Given the description of an element on the screen output the (x, y) to click on. 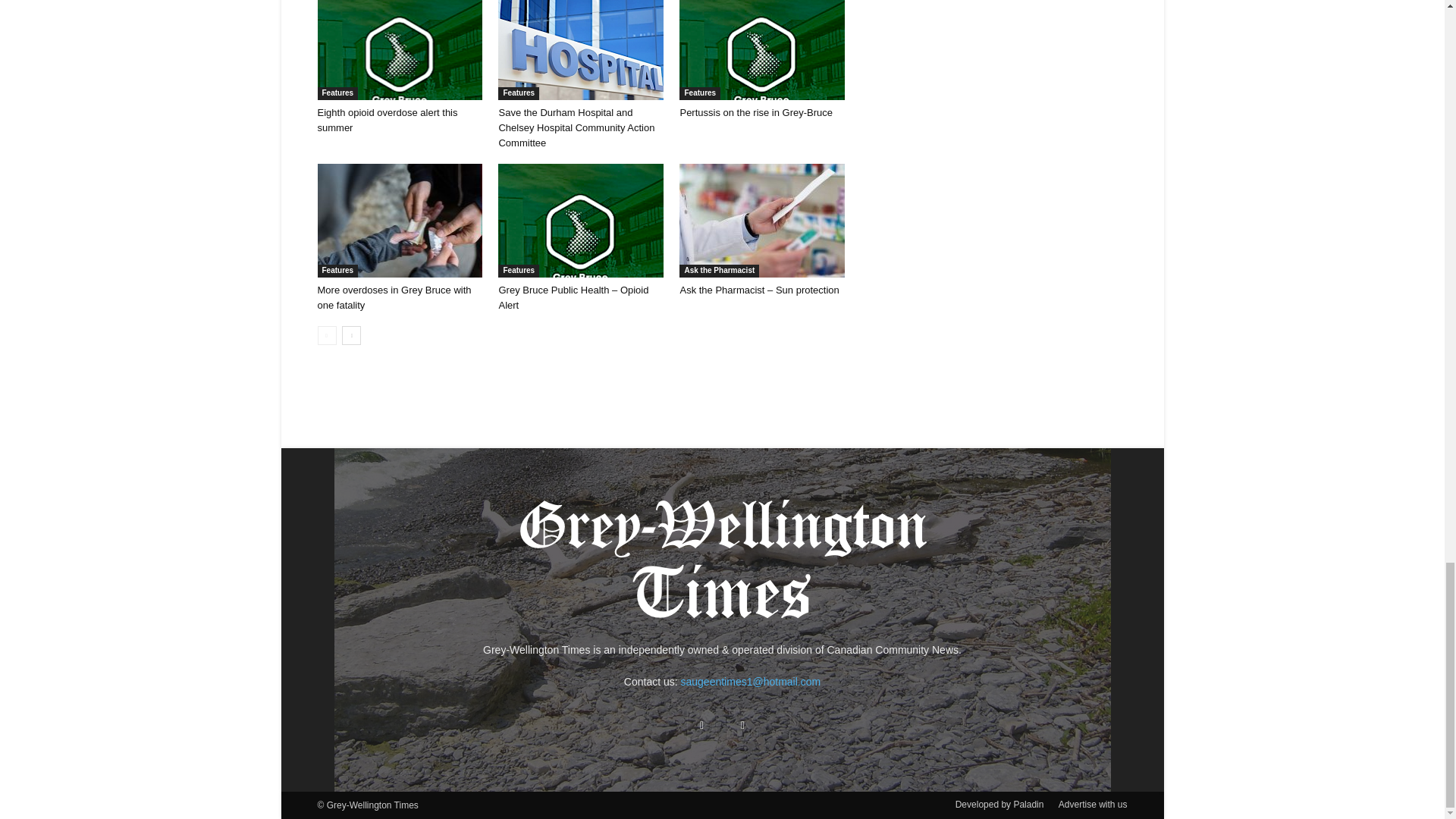
Eighth opioid overdose alert this summer (399, 49)
Eighth opioid overdose alert this summer (387, 120)
